Given the description of an element on the screen output the (x, y) to click on. 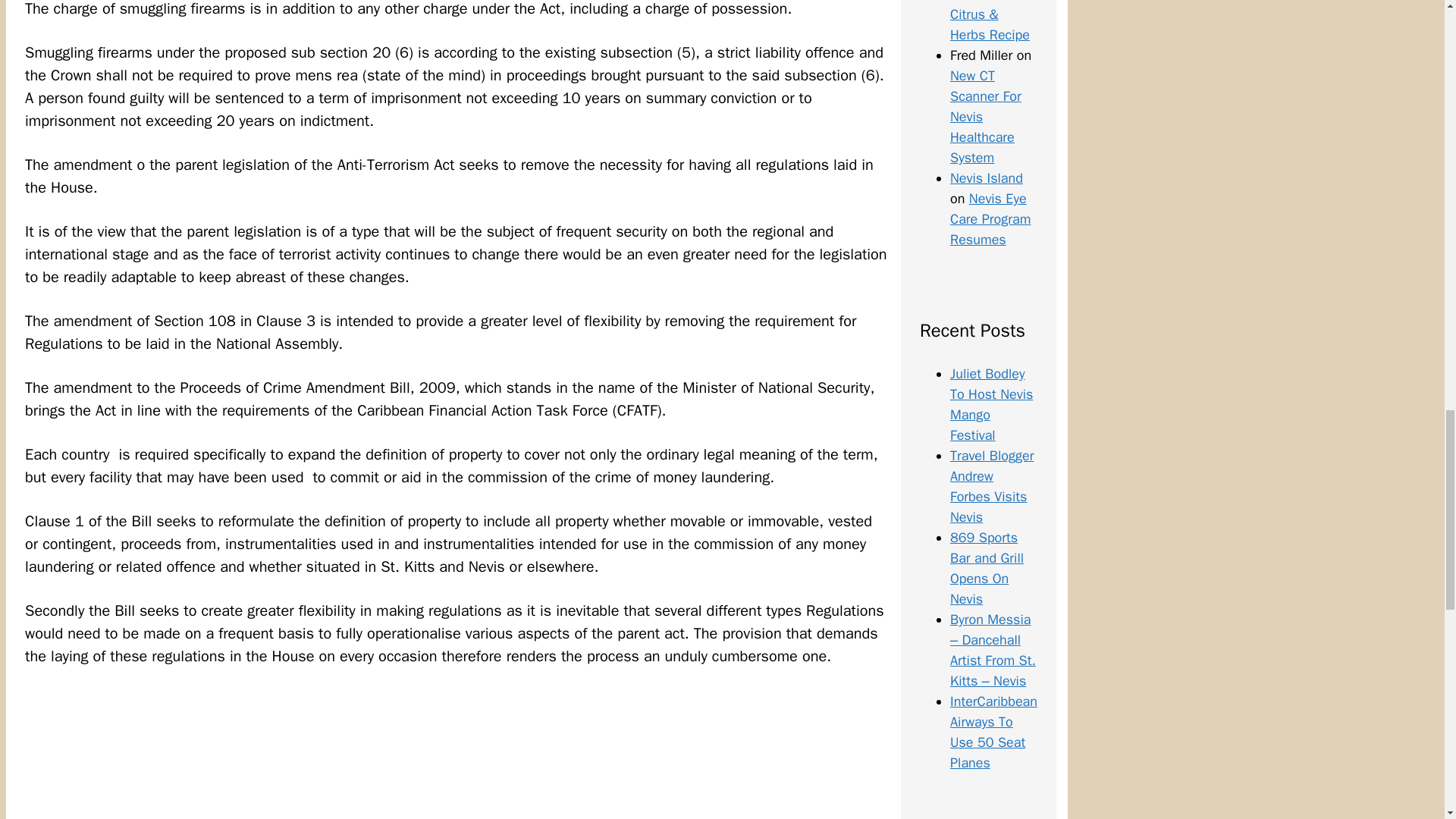
Nevis Island (986, 177)
Nevis Eye Care Program Resumes (990, 219)
